Given the description of an element on the screen output the (x, y) to click on. 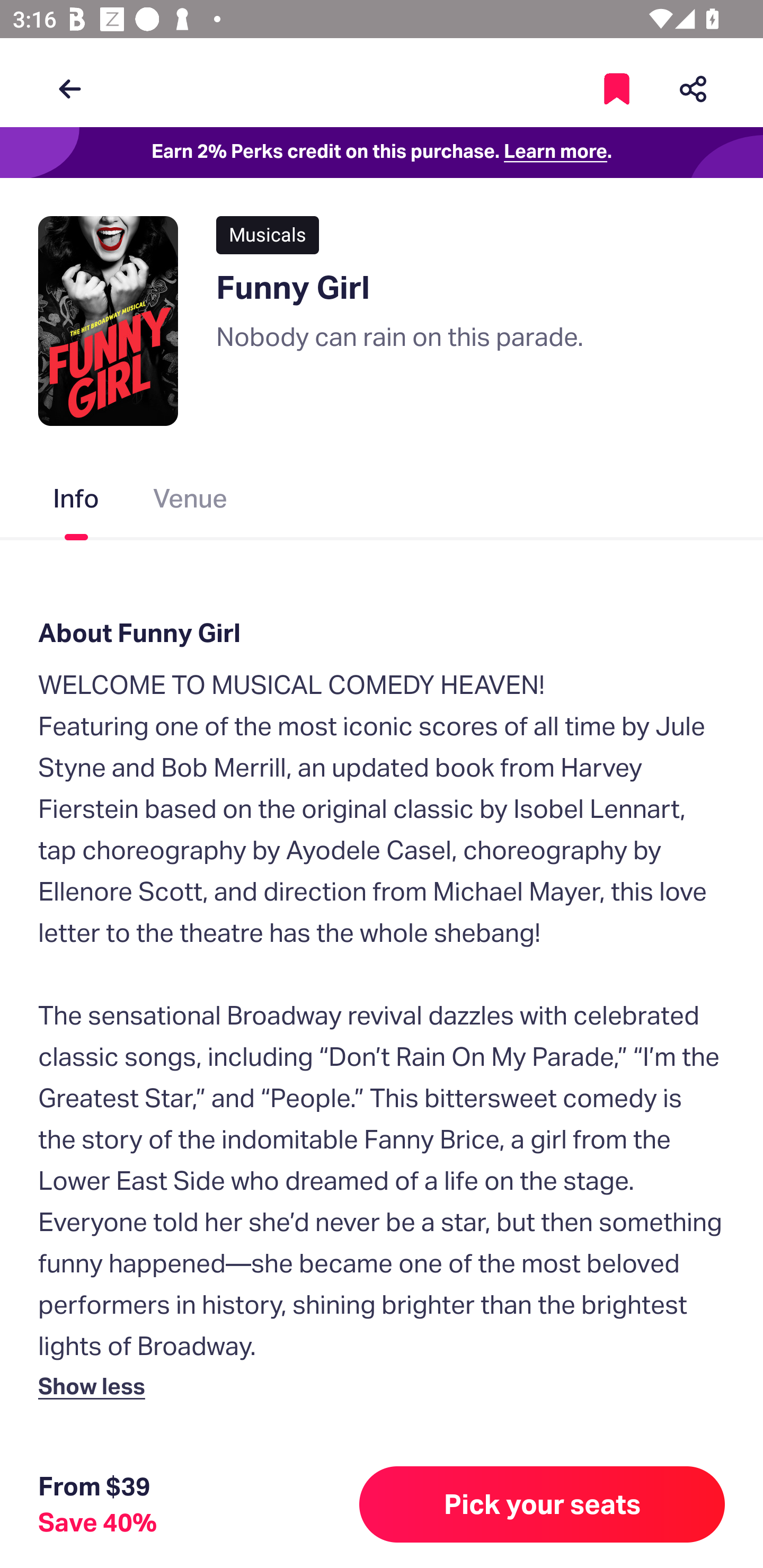
Earn 2% Perks credit on this purchase. Learn more. (381, 152)
Venue (190, 502)
About Funny Girl (381, 632)
Show less (95, 1385)
Pick your seats (541, 1504)
